Given the description of an element on the screen output the (x, y) to click on. 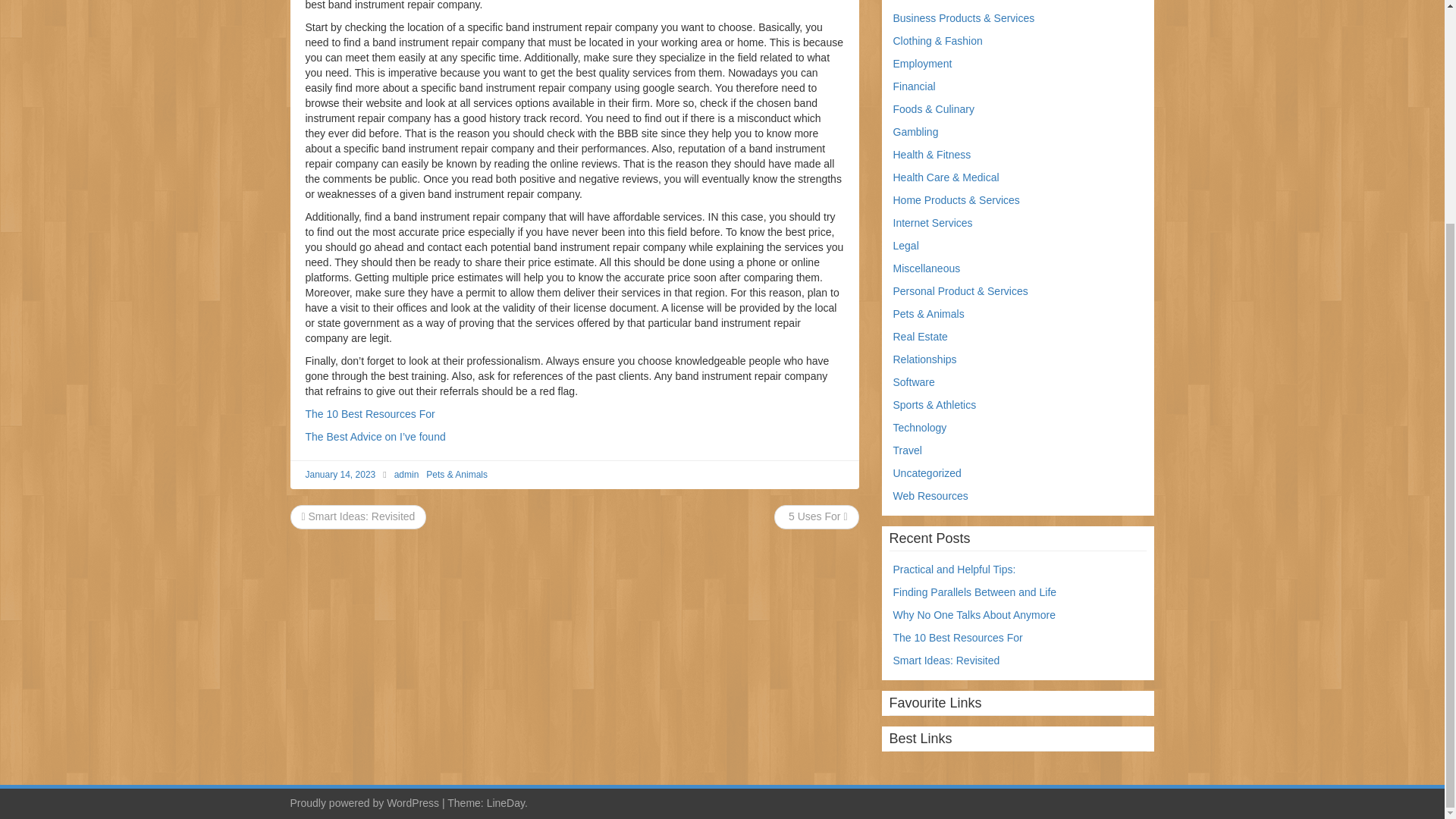
admin (406, 474)
Software (913, 381)
Travel (907, 450)
Miscellaneous (926, 268)
January 14, 2023 (339, 474)
Web Resources (930, 495)
Real Estate (920, 336)
Internet Services (932, 223)
Relationships (924, 358)
The 10 Best Resources For (368, 413)
Uncategorized (926, 472)
Technology (920, 427)
 5 Uses For  (816, 516)
Business (914, 0)
Finding Parallels Between and Life (975, 592)
